Given the description of an element on the screen output the (x, y) to click on. 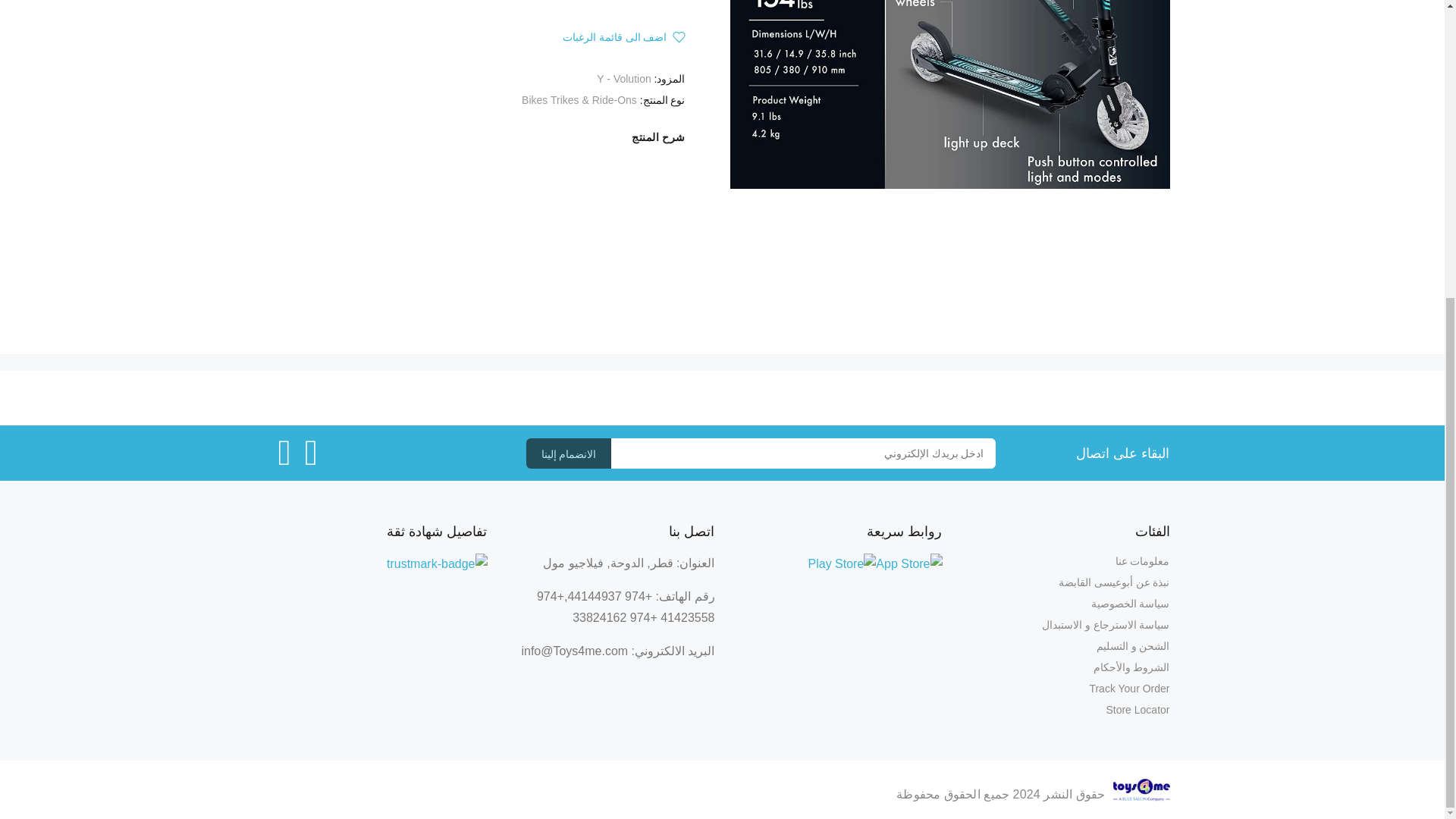
Y - Volution (623, 78)
